Given the description of an element on the screen output the (x, y) to click on. 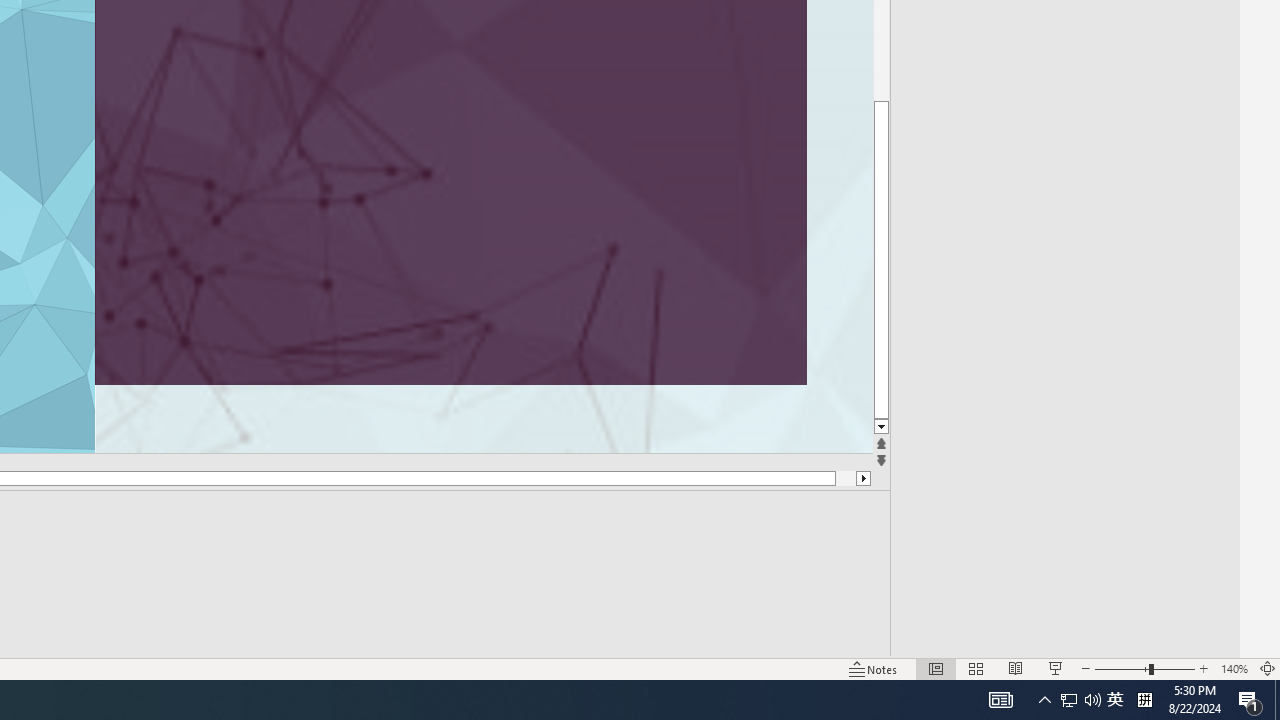
Zoom 140% (1234, 668)
